Given the description of an element on the screen output the (x, y) to click on. 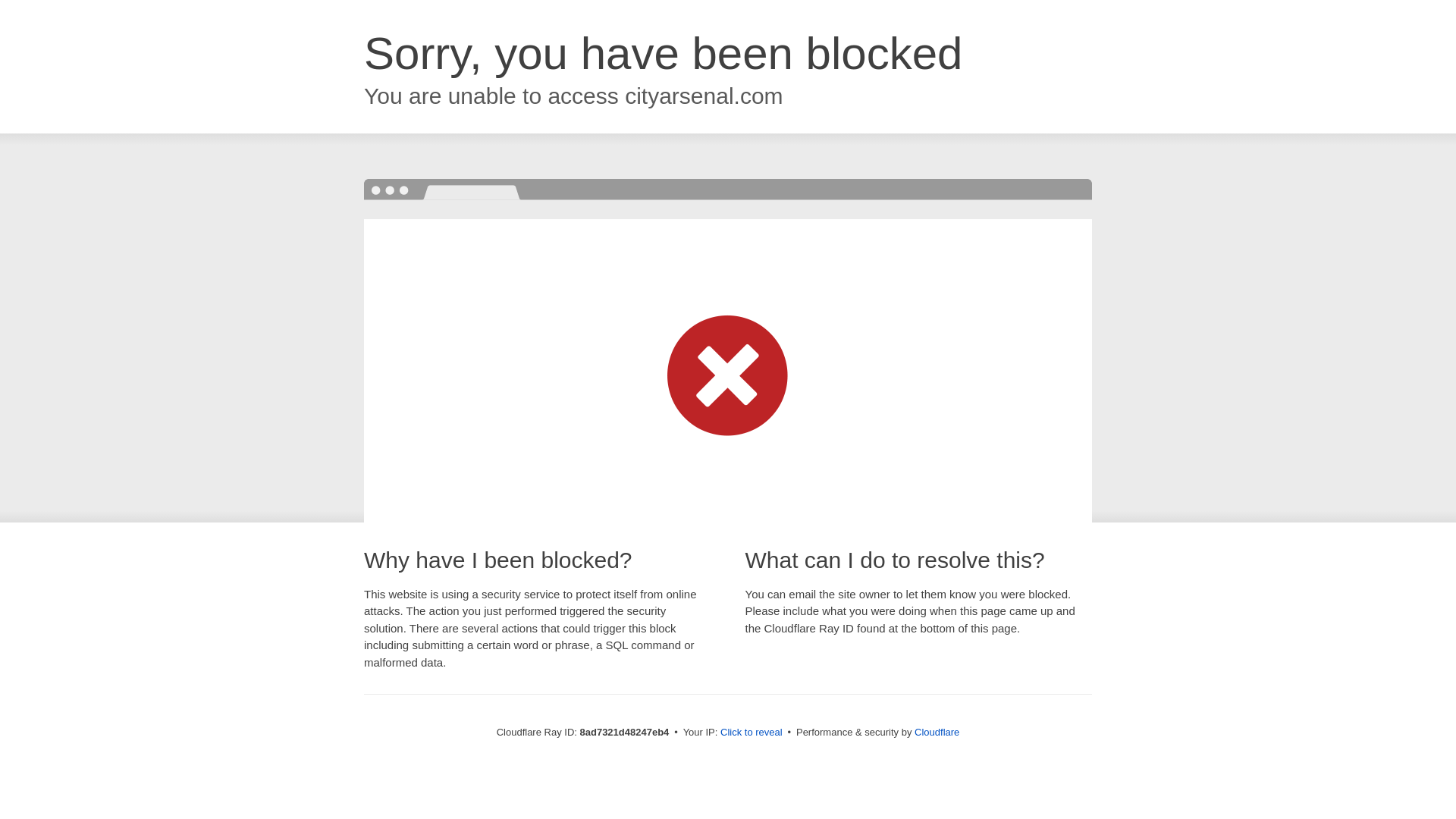
Cloudflare (936, 731)
Click to reveal (751, 732)
